Given the description of an element on the screen output the (x, y) to click on. 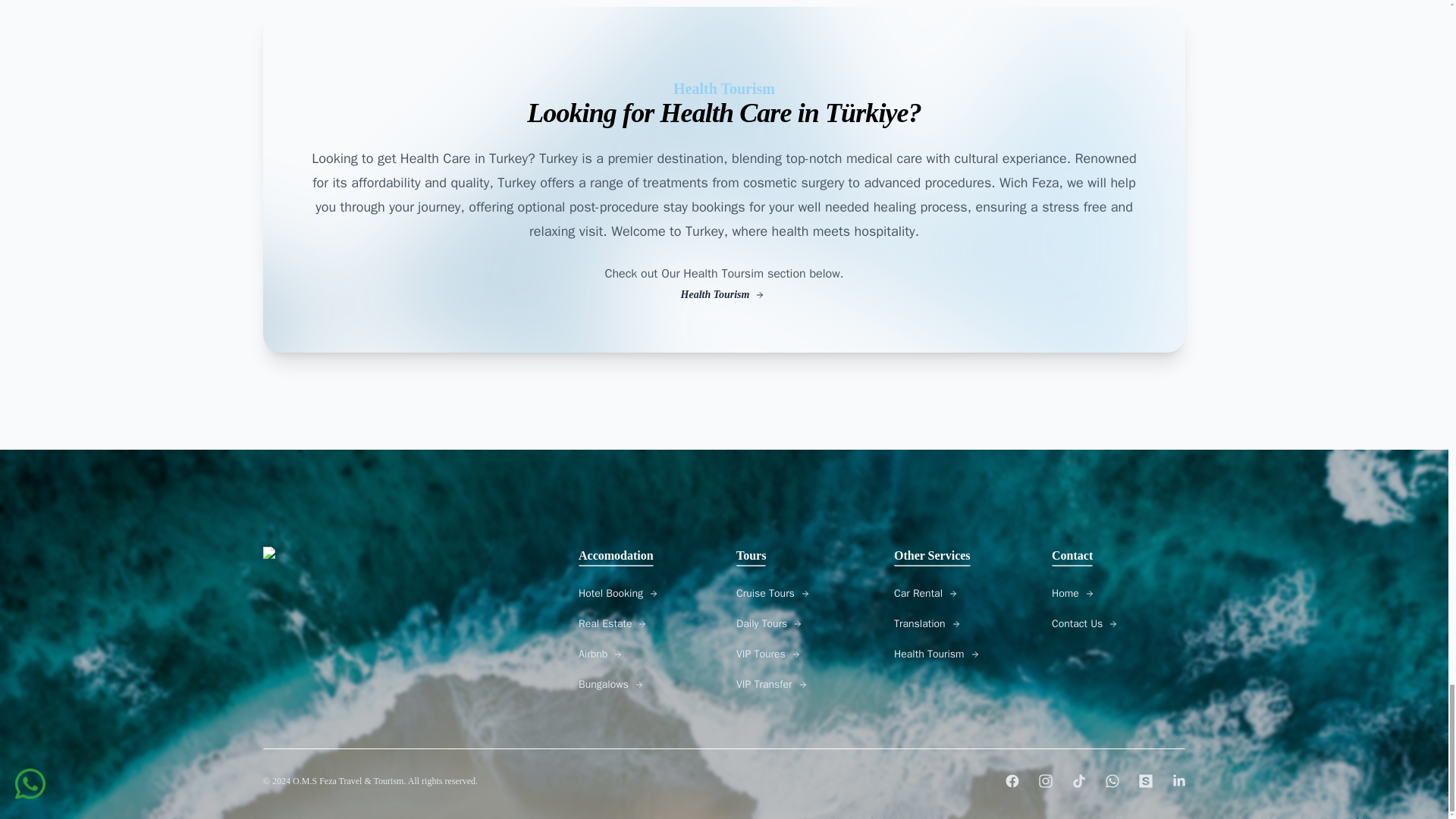
Real Estate (644, 624)
Hotel Booking (644, 593)
Health Tourism (724, 294)
Airbnb (644, 654)
